Given the description of an element on the screen output the (x, y) to click on. 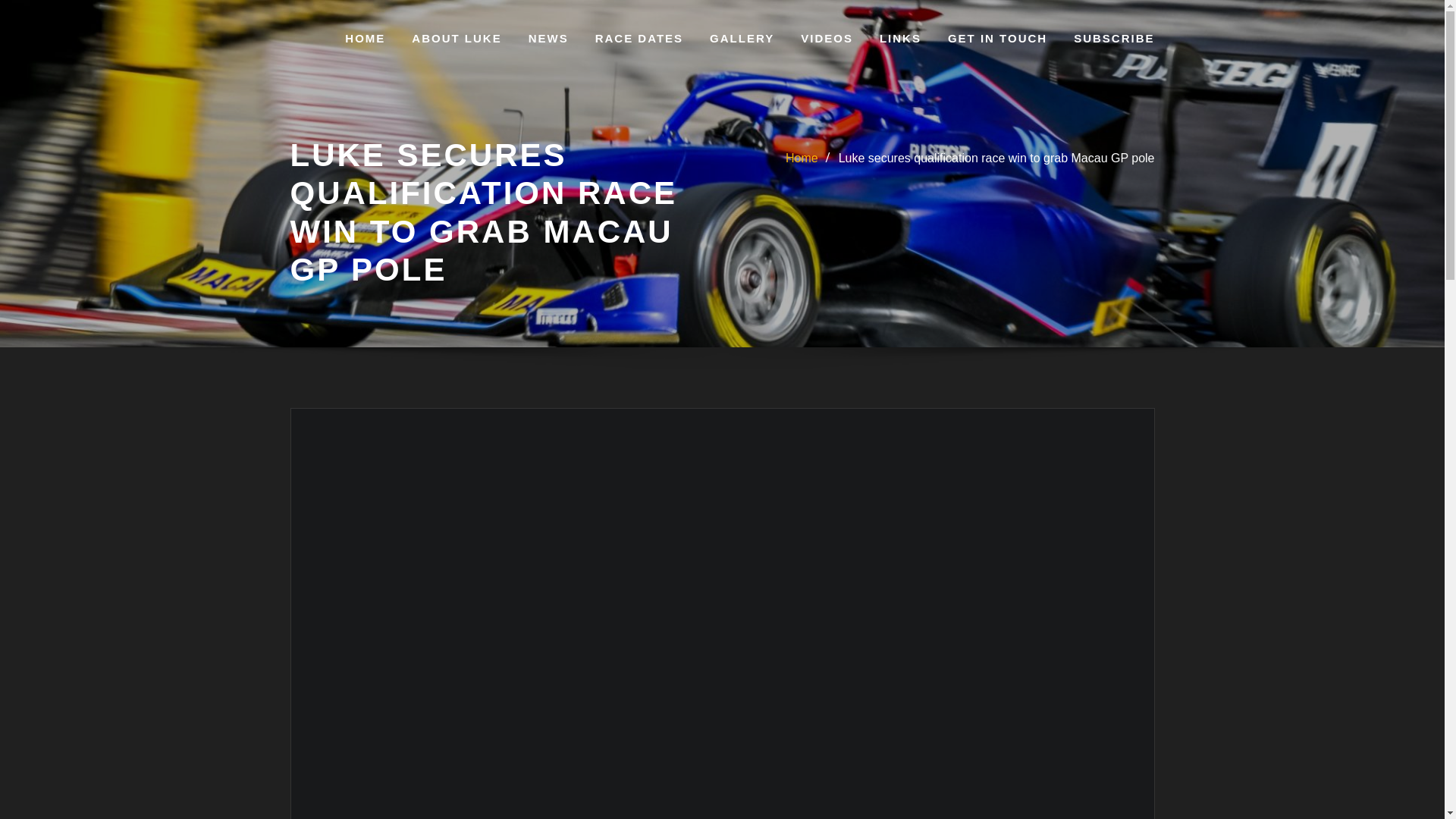
VIDEOS (826, 38)
NEWS (548, 38)
Home (802, 157)
GET IN TOUCH (996, 38)
LINKS (900, 38)
RACE DATES (638, 38)
ABOUT LUKE (456, 38)
Luke secures qualification race win to grab Macau GP pole (996, 157)
SUBSCRIBE (1114, 38)
GALLERY (742, 38)
